Given the description of an element on the screen output the (x, y) to click on. 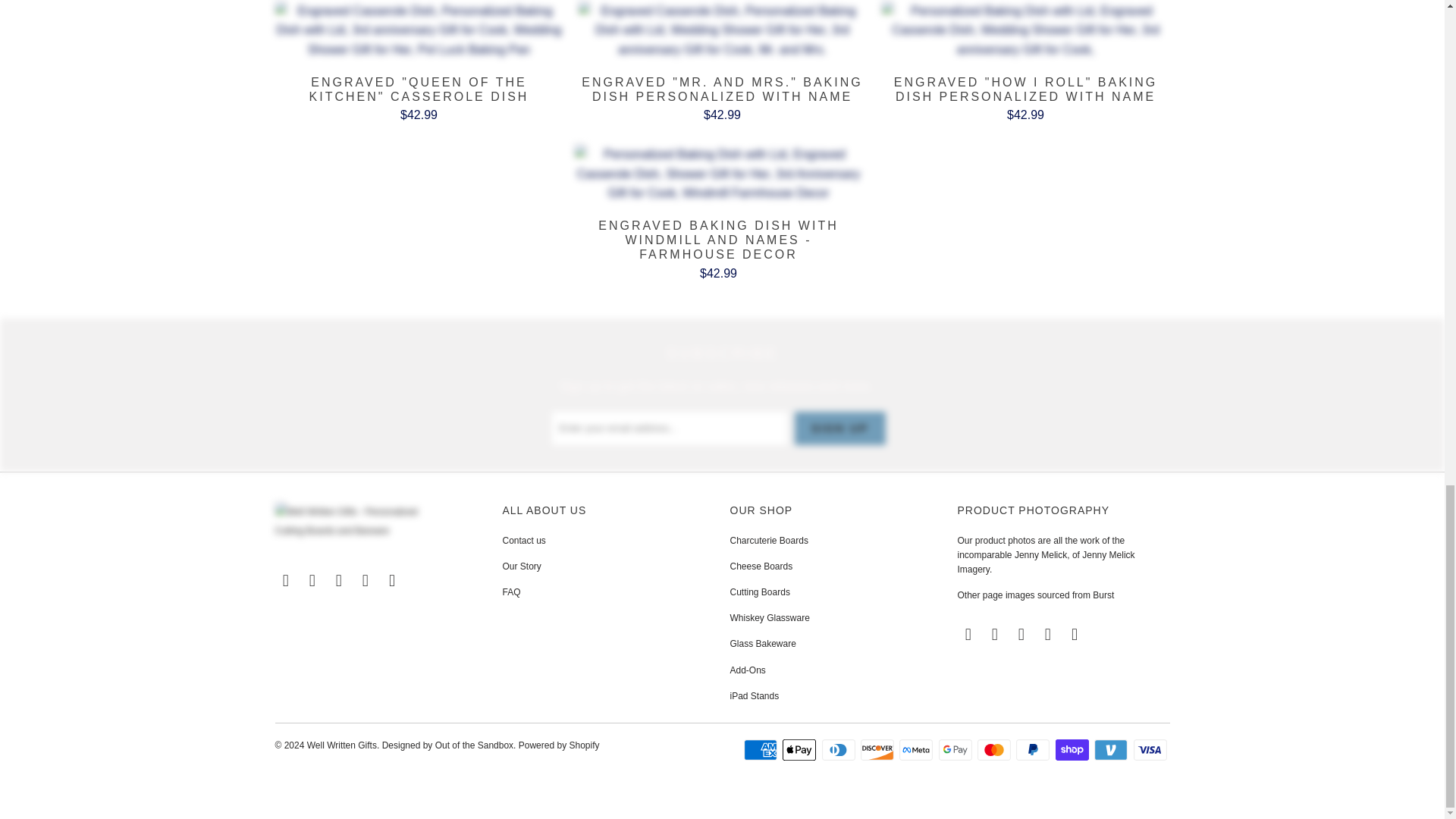
Venmo (1112, 749)
Well Written Gifts on Instagram (366, 580)
American Express (762, 749)
Sign Up (839, 428)
Visa (1150, 749)
Meta Pay (917, 749)
Email Well Written Gifts (392, 580)
PayPal (1034, 749)
Well Written Gifts on Twitter (286, 580)
Well Written Gifts on Pinterest (339, 580)
